Given the description of an element on the screen output the (x, y) to click on. 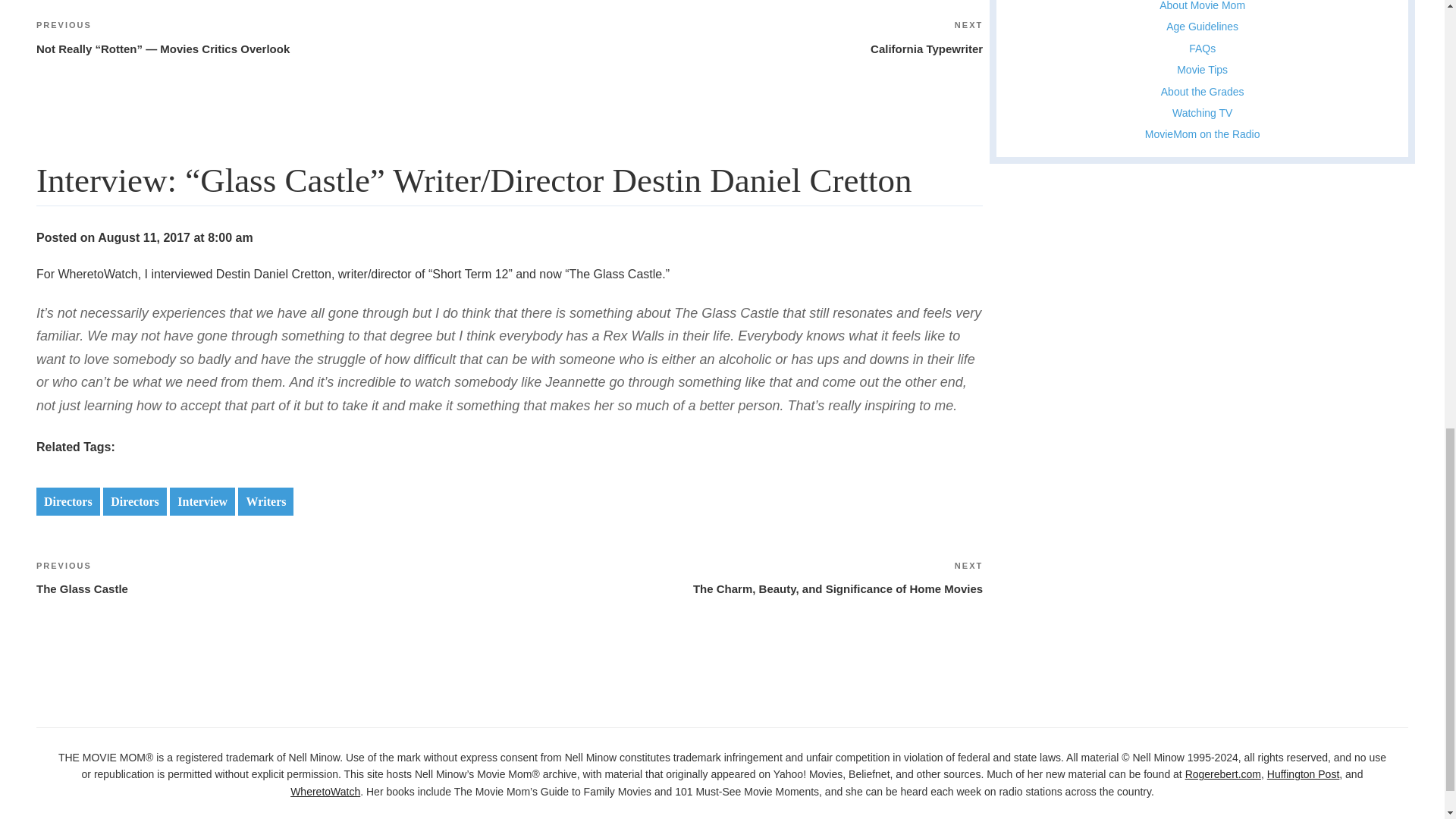
MovieMom on the Radio (1202, 133)
FAQs (1202, 48)
Interview (202, 501)
Huffington Post (1302, 774)
Rogerebert.com (1222, 774)
Watching TV (1201, 112)
About the Grades (1202, 91)
About Movie Mom (1201, 5)
Writers (266, 501)
